Given the description of an element on the screen output the (x, y) to click on. 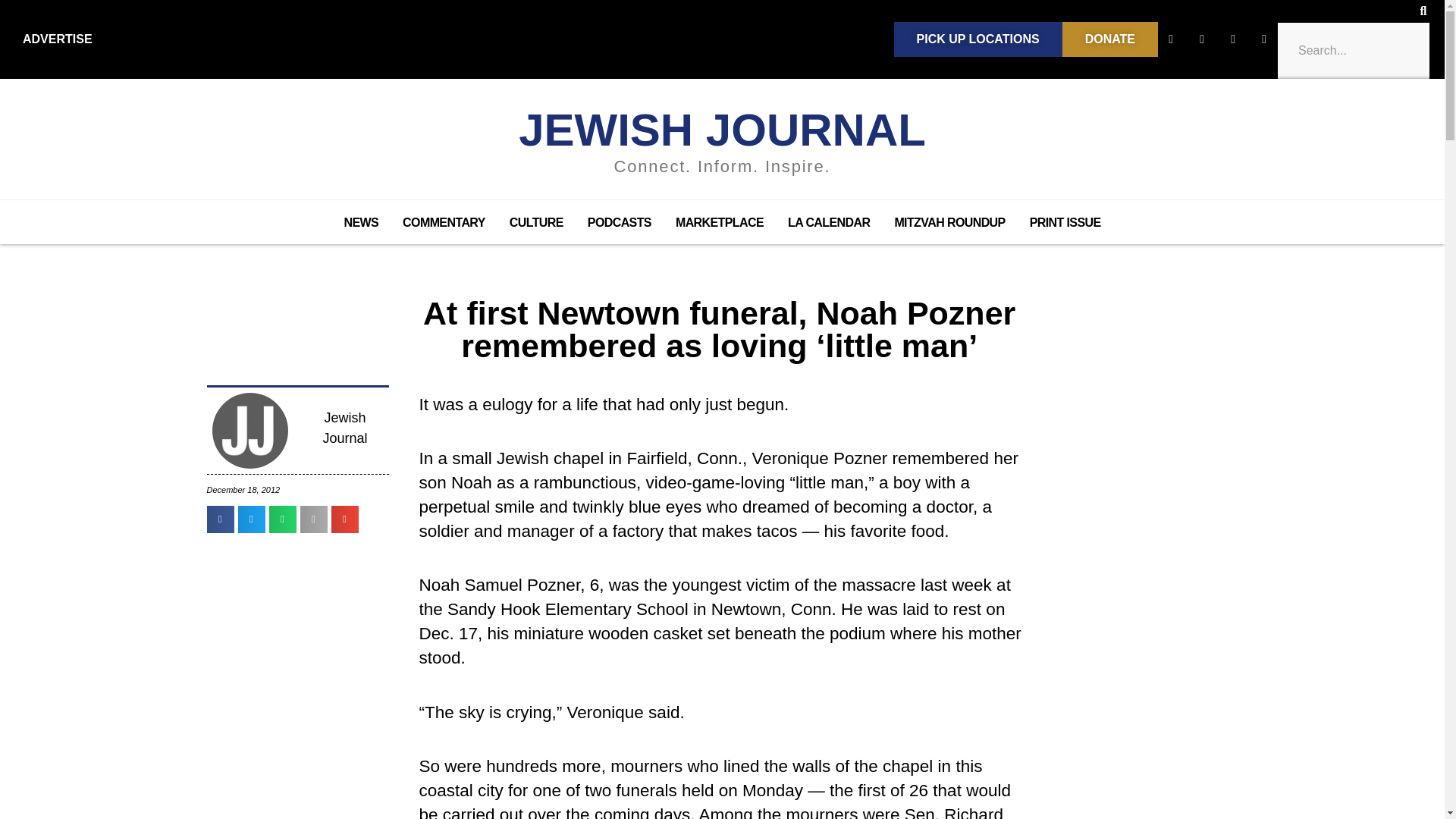
PICK UP LOCATIONS (977, 39)
CULTURE (536, 222)
JEWISH JOURNAL (722, 129)
NEWS (361, 222)
ADVERTISE (57, 39)
DONATE (1109, 39)
LA CALENDAR (829, 222)
COMMENTARY (443, 222)
MARKETPLACE (719, 222)
PODCASTS (619, 222)
Search (1353, 50)
